Given the description of an element on the screen output the (x, y) to click on. 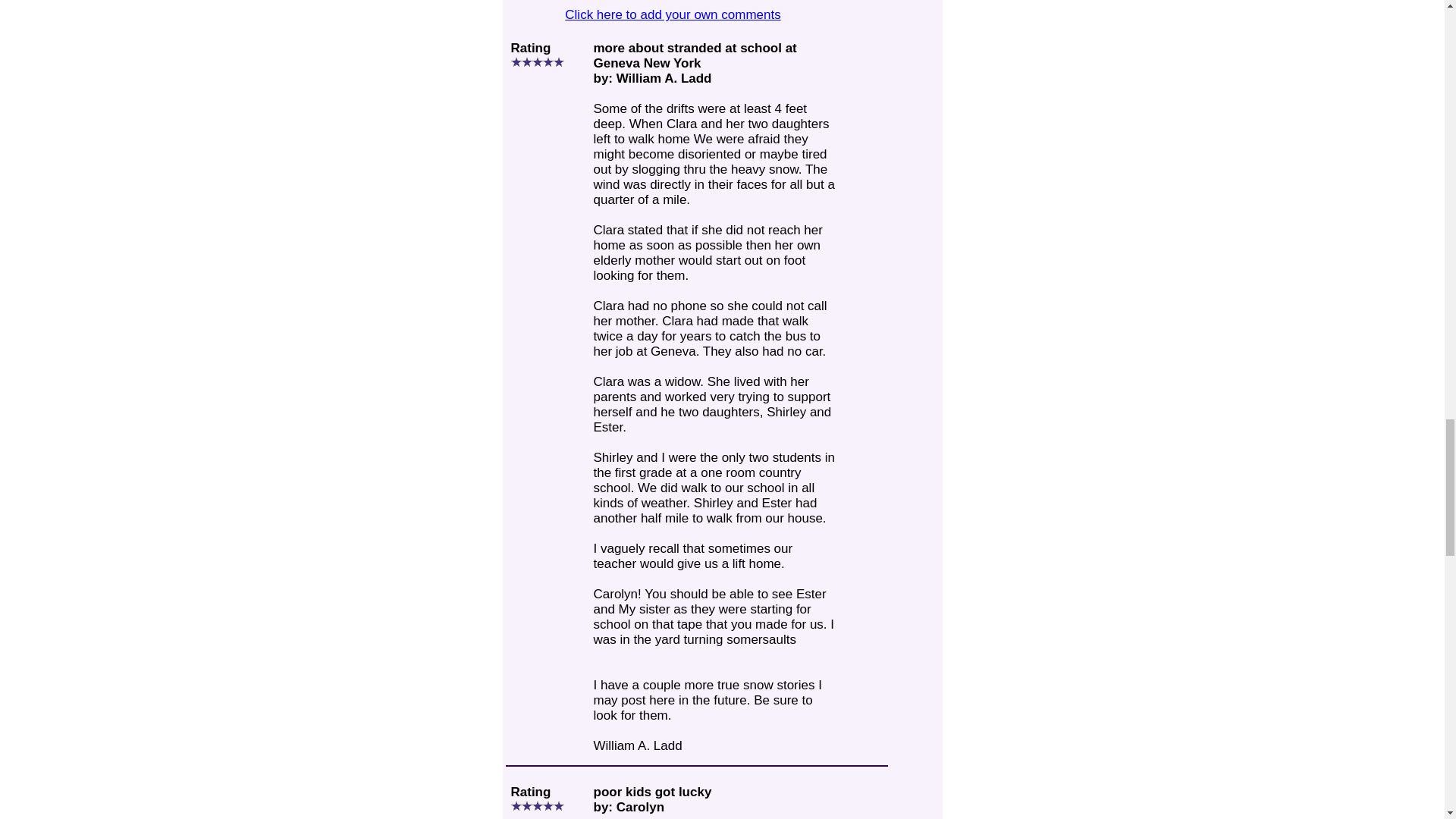
Click here to add your own comments (672, 14)
